Given the description of an element on the screen output the (x, y) to click on. 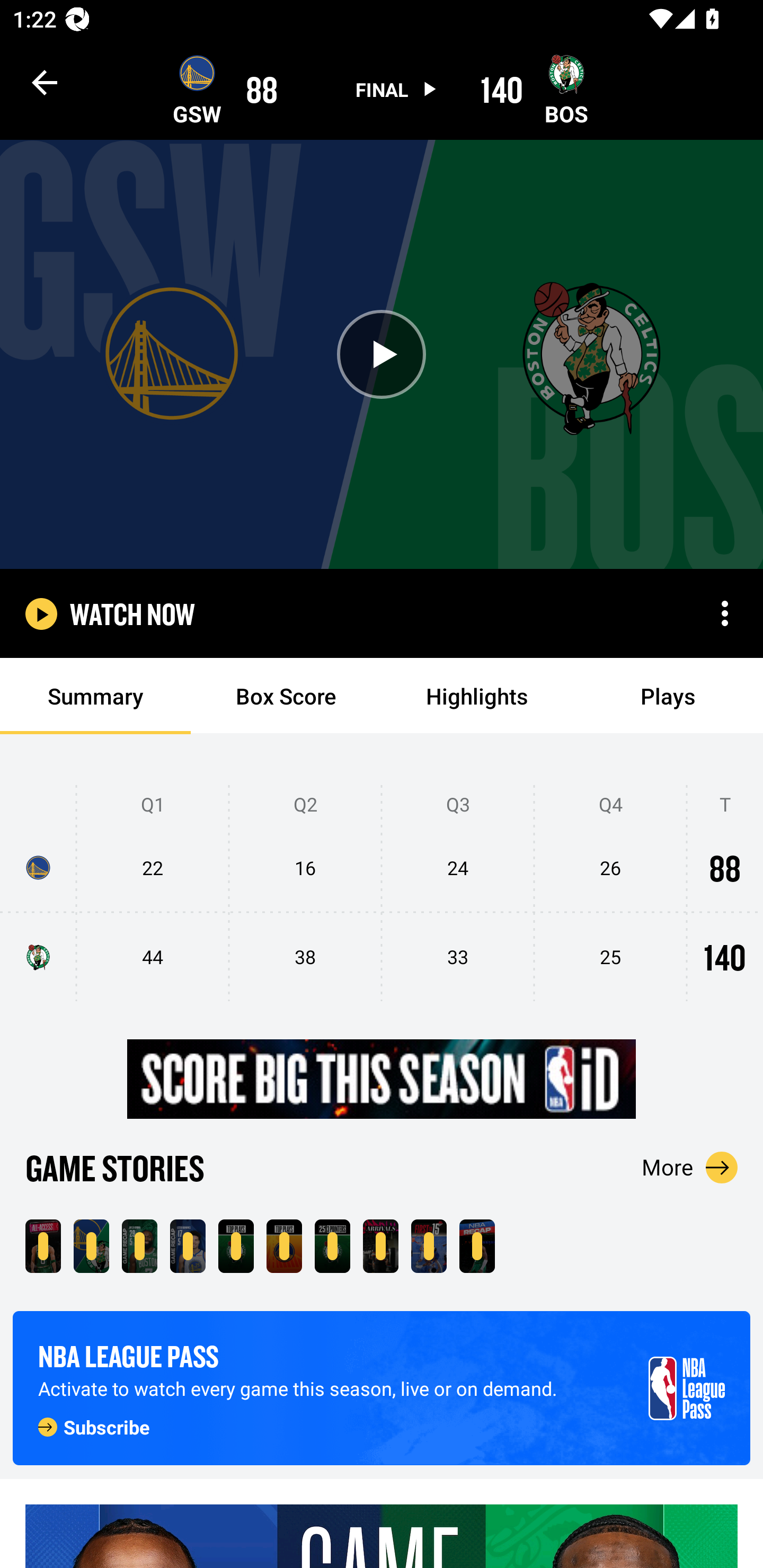
Navigate up (44, 82)
More options (724, 613)
WATCH NOW (132, 613)
Box Score (285, 695)
Highlights (476, 695)
Plays (667, 695)
Q1 Q2 Q3 Q4 T 22 16 24 26 88 44 38 33 25 140 (381, 893)
More (689, 1166)
Warriors And Celtics Clash At TD Garden 🍀 NEW (43, 1246)
BOS 140, GSW 88 - Mar 3 NEW (91, 1246)
Highlights From Jaylen Brown's 29-Point Game NEW (139, 1246)
Highlights From Lester Quinones' 17-Point Game NEW (187, 1246)
BOS' Top Plays from GSW vs. BOS NEW (236, 1246)
GSW's Top Plays from GSW vs. BOS NEW (284, 1246)
All 3-pointers from BOS' 25 3-pointer Night NEW (332, 1246)
Steppin' Into Sunday 🔥 NEW (380, 1246)
First To 15, Mar. 3rd NEW (428, 1246)
Sunday's Recap NEW (477, 1246)
